Given the description of an element on the screen output the (x, y) to click on. 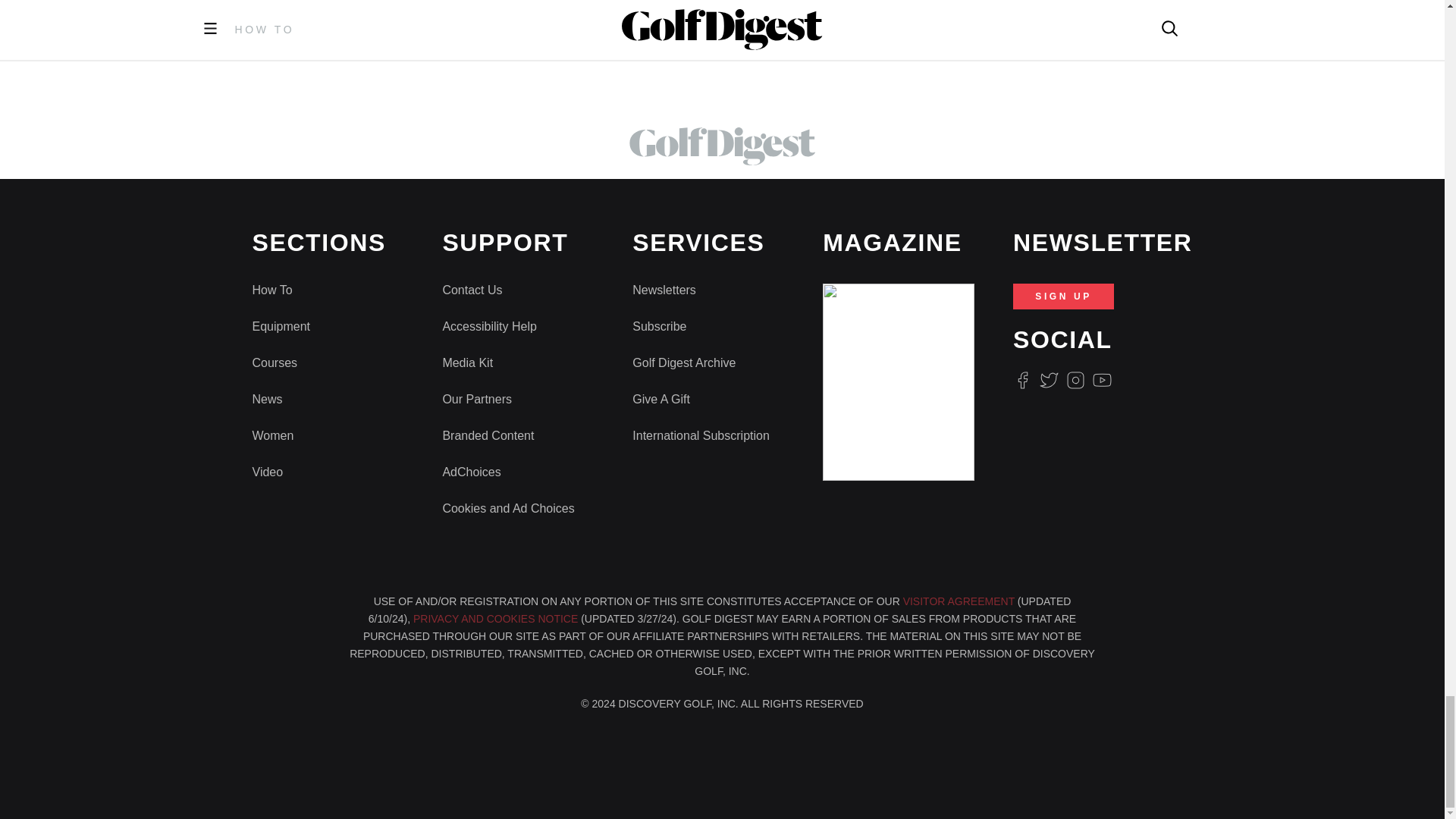
Twitter Logo (1048, 380)
Youtube Icon (1102, 380)
Instagram Logo (1074, 380)
Facebook Logo (1022, 380)
